Given the description of an element on the screen output the (x, y) to click on. 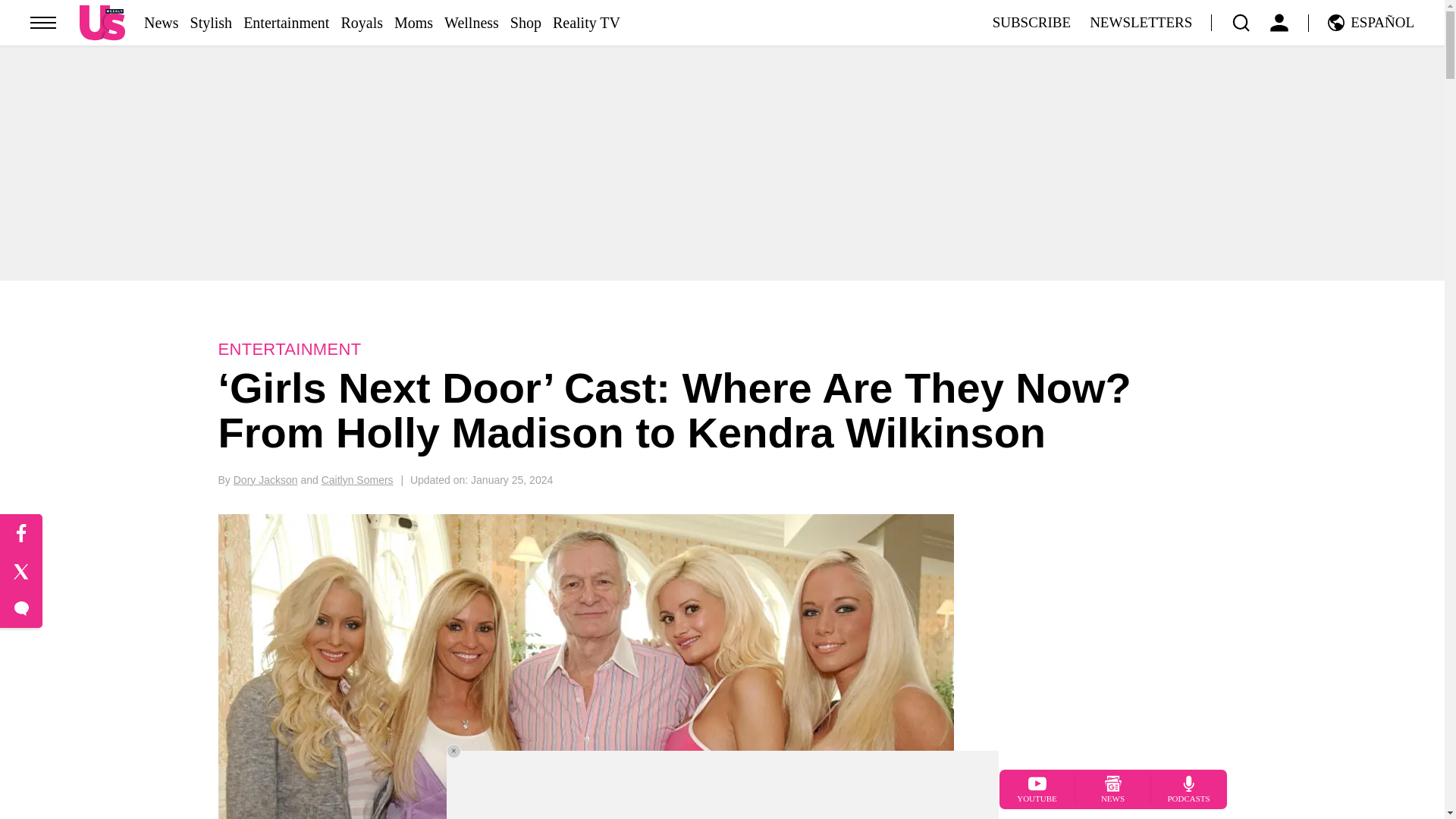
Posts by Caitlyn Somers (357, 480)
Click to share on Facebook (21, 533)
3rd party ad content (721, 785)
Click to share on Twitter (21, 571)
Posts by Dory Jackson (265, 480)
